Given the description of an element on the screen output the (x, y) to click on. 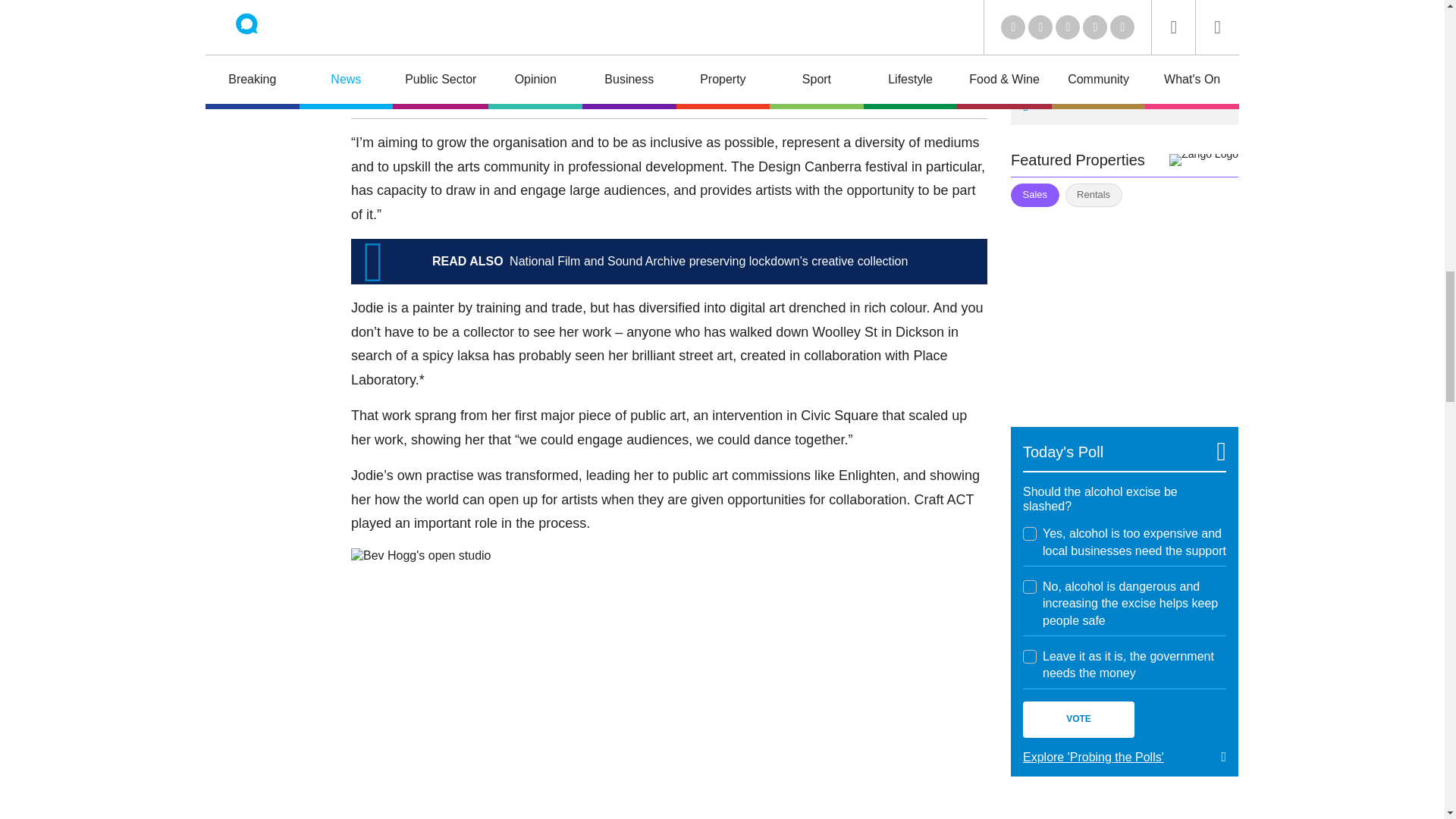
Zango Sales (1124, 307)
2046 (1029, 533)
2047 (1029, 586)
Zango (1204, 159)
   Vote    (1078, 719)
2048 (1029, 656)
